Given the description of an element on the screen output the (x, y) to click on. 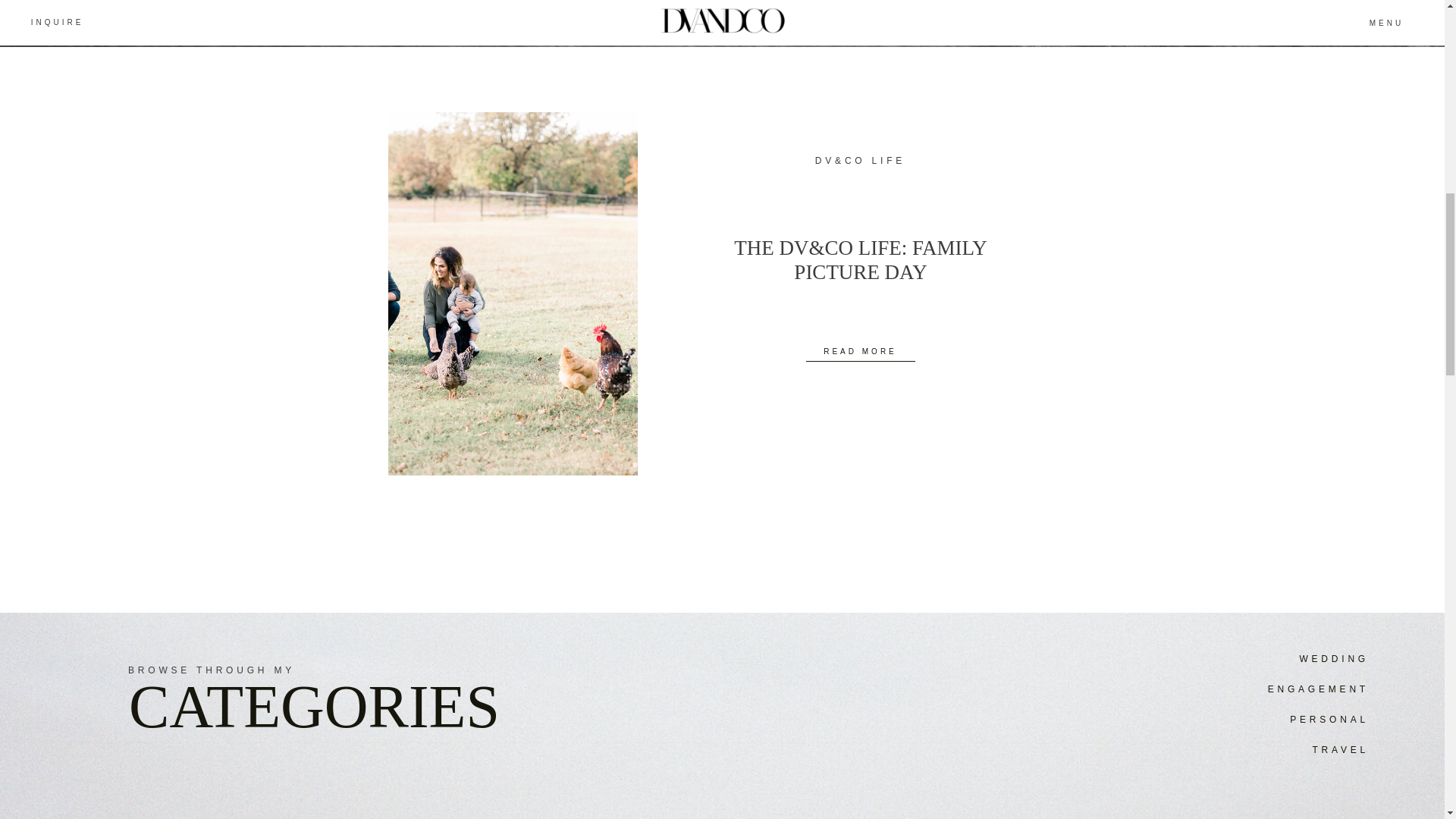
READ MORE (859, 349)
ENGAGEMENT (1244, 688)
